Given the description of an element on the screen output the (x, y) to click on. 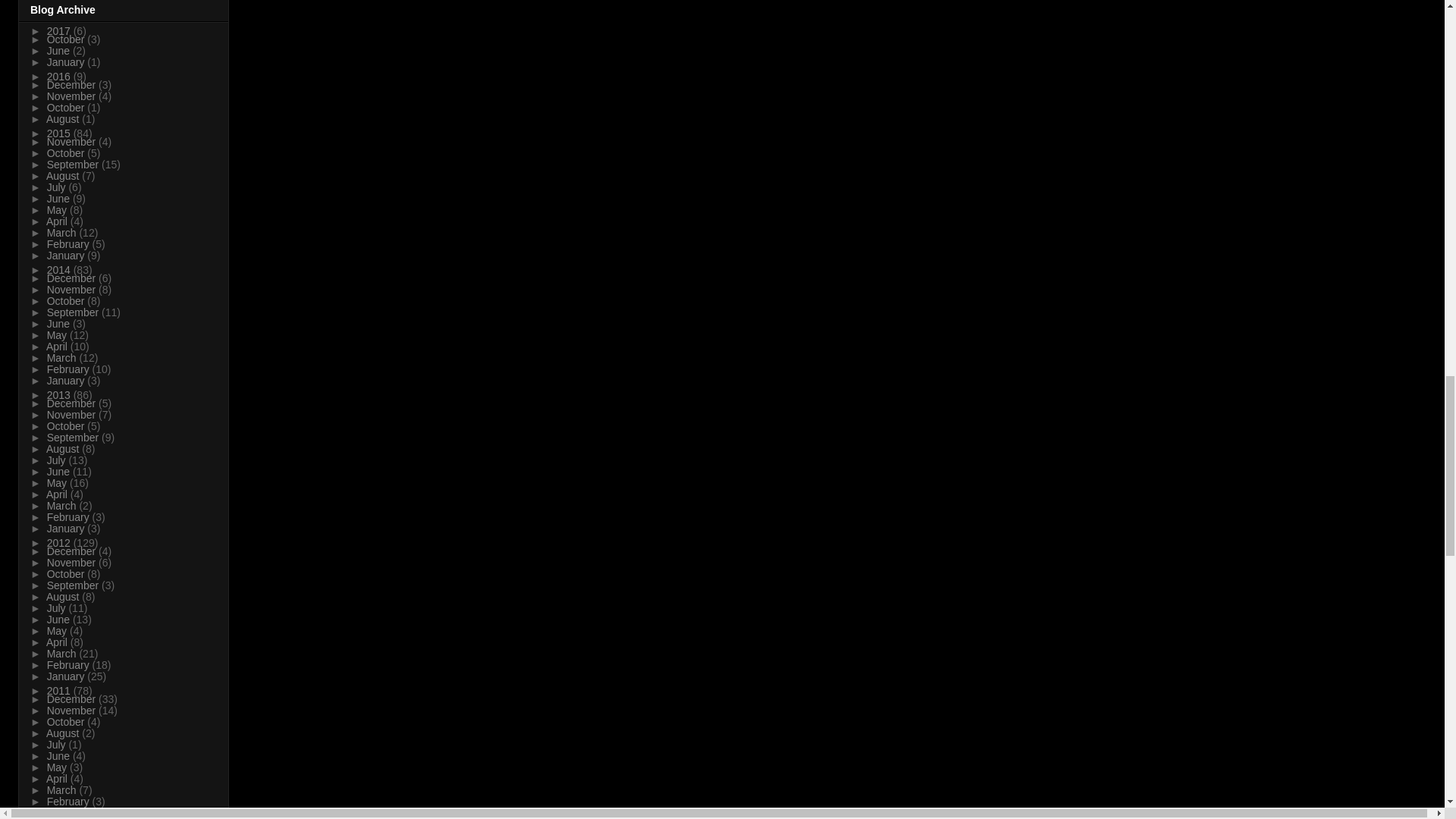
2017 (60, 30)
2016 (60, 76)
November (72, 96)
October (66, 39)
December (72, 84)
June (59, 50)
January (66, 61)
October (66, 107)
